Given the description of an element on the screen output the (x, y) to click on. 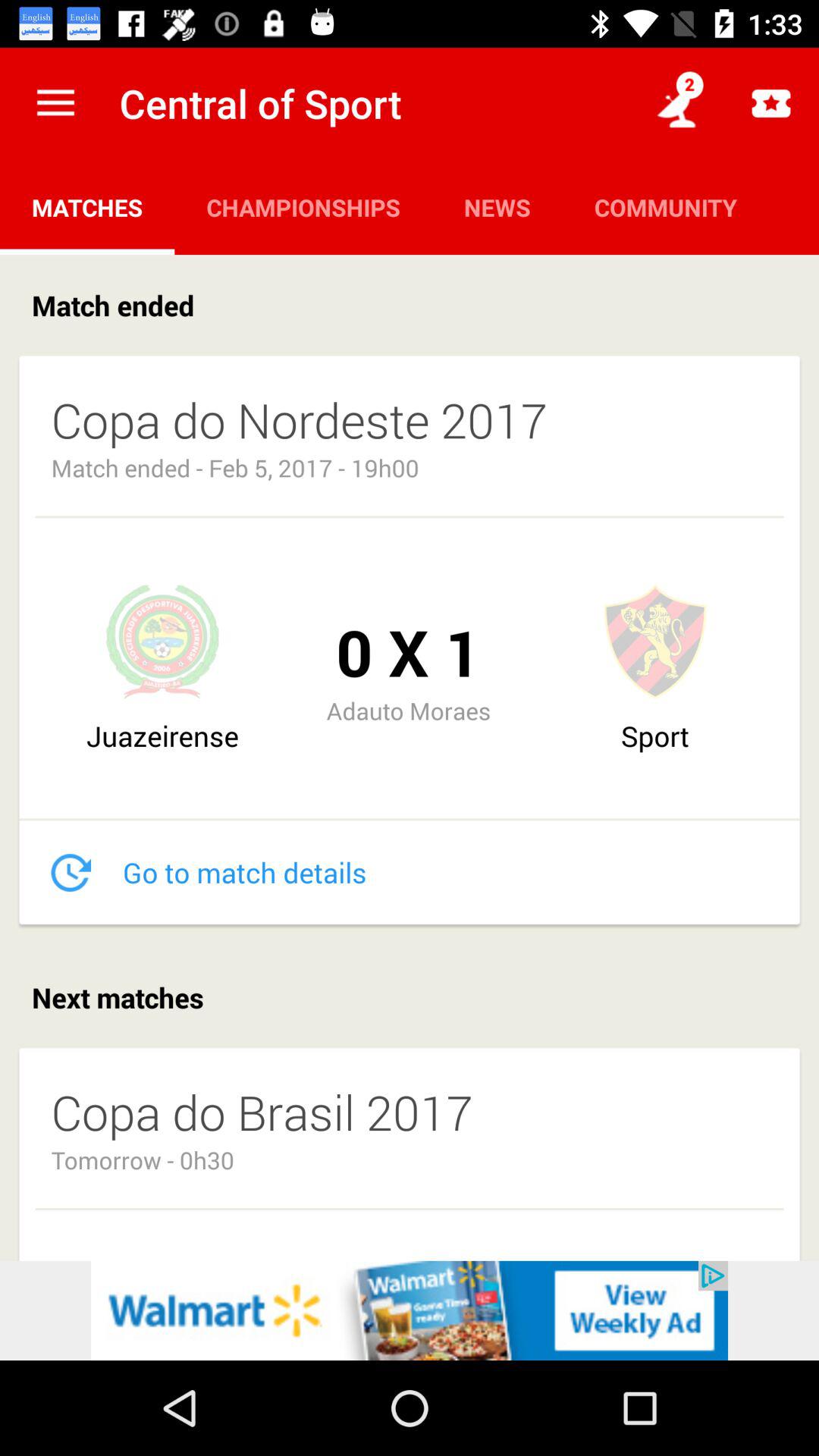
advertisement (409, 1310)
